Given the description of an element on the screen output the (x, y) to click on. 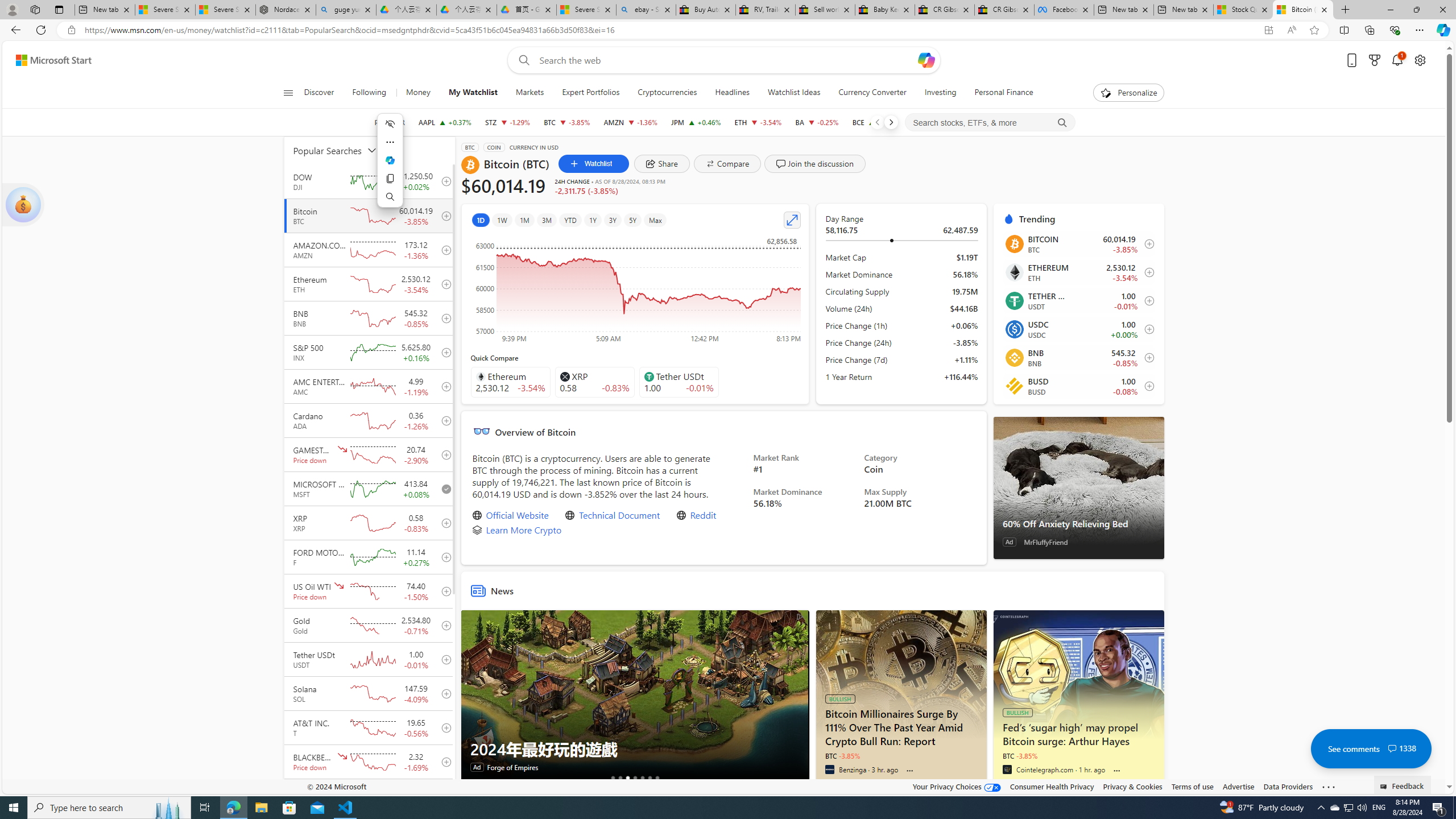
Advertise (1238, 785)
ETH Ethereum decrease 2,530.12 -89.57 -3.54% (758, 122)
Reddit (703, 515)
BUSD BUSD decrease 1.00 -0.00 -0.08% itemundefined (1078, 385)
BCE BCE Inc increase 35.22 +0.08 +0.23% (875, 122)
Baby Keepsakes & Announcements for sale | eBay (885, 9)
Watchlist (592, 163)
My Watchlist (472, 92)
Expert Portfolios (590, 92)
